Given the description of an element on the screen output the (x, y) to click on. 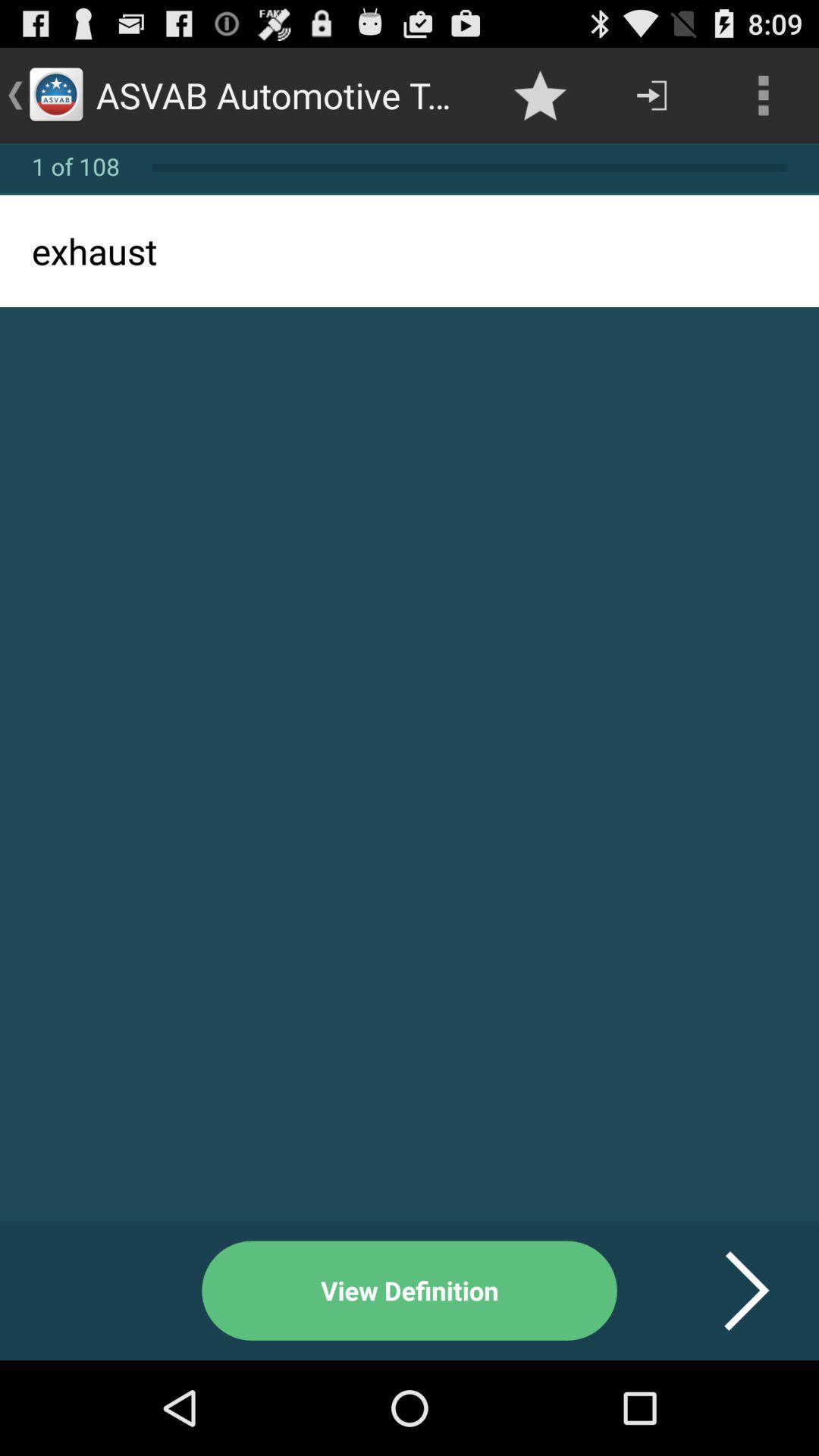
open item at the bottom right corner (728, 1290)
